Given the description of an element on the screen output the (x, y) to click on. 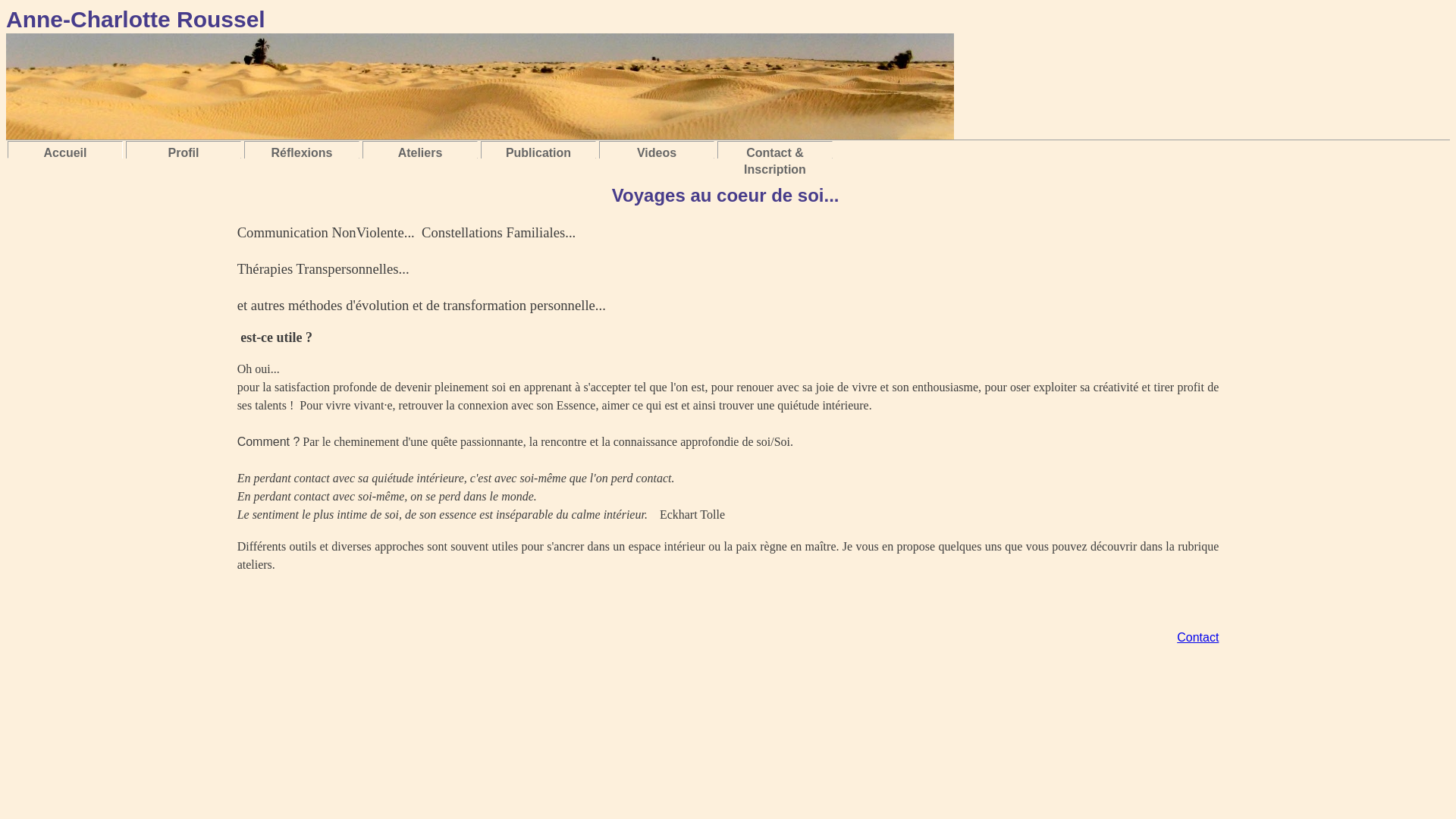
Ateliers Element type: text (419, 152)
Contact Element type: text (1197, 636)
Anne-Charlotte Roussel Element type: text (479, 75)
Accueil Element type: text (65, 152)
Profil Element type: text (183, 152)
Videos Element type: text (656, 152)
Publication Element type: text (538, 152)
Contact & Inscription Element type: text (774, 161)
